Given the description of an element on the screen output the (x, y) to click on. 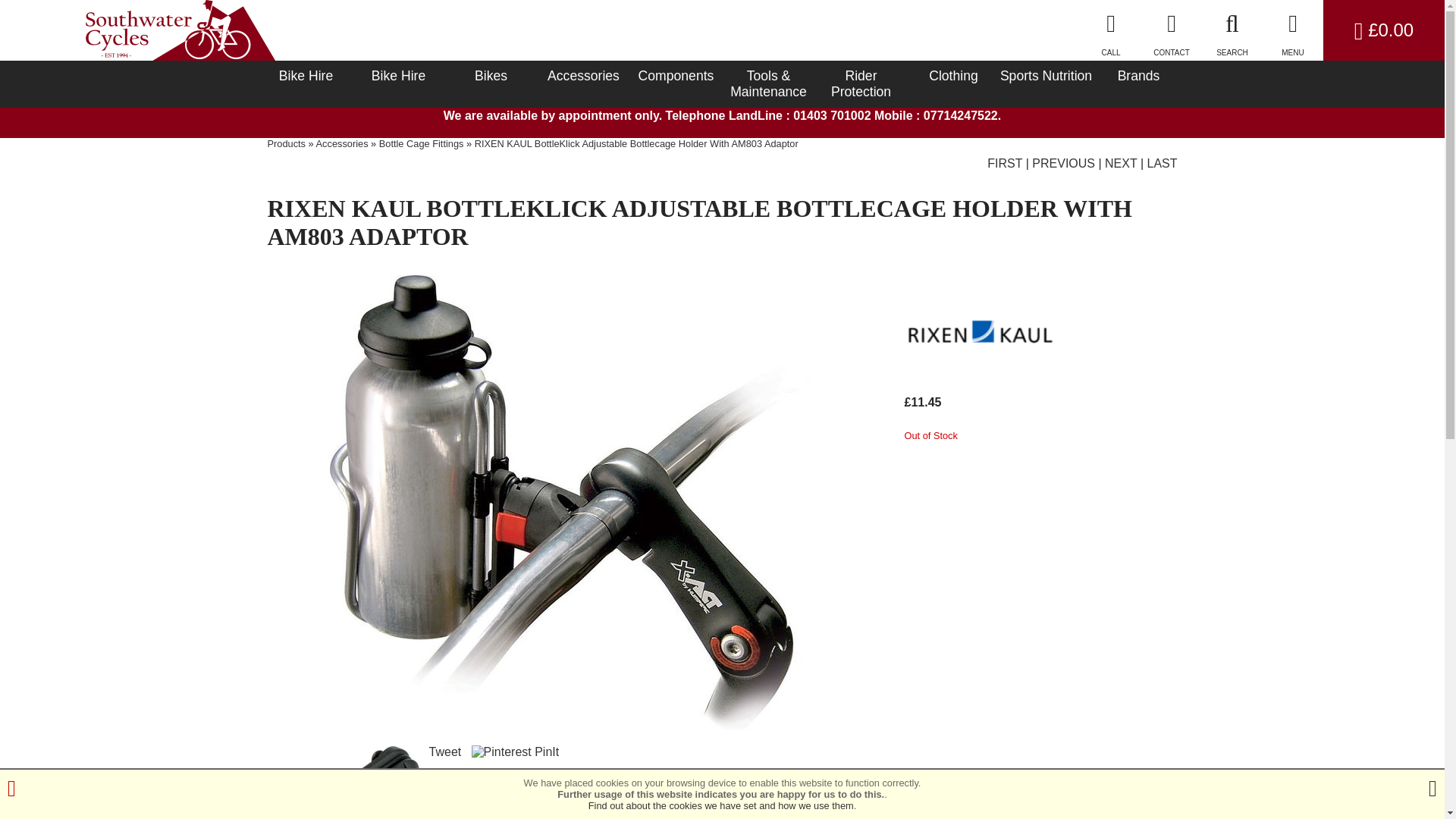
Accessories (582, 75)
Bike Hire (398, 75)
Components (675, 75)
Bikes (490, 75)
CONTACT (1171, 30)
Bike Hire (305, 75)
Components (675, 75)
Product Search (1232, 30)
Bikes (490, 75)
MENU (1292, 30)
